Given the description of an element on the screen output the (x, y) to click on. 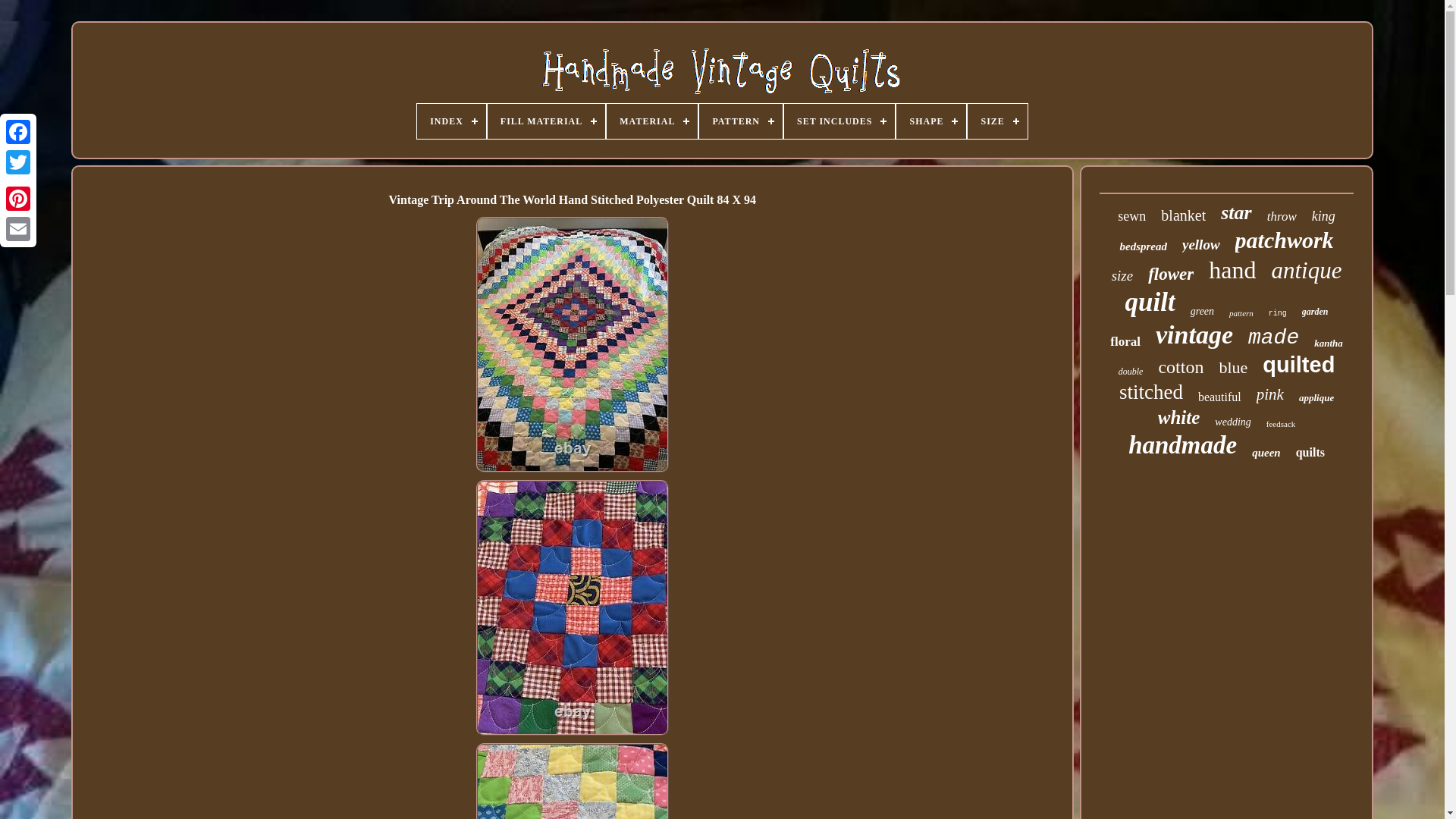
INDEX (451, 121)
Pinterest (17, 198)
MATERIAL (652, 121)
FILL MATERIAL (546, 121)
